Given the description of an element on the screen output the (x, y) to click on. 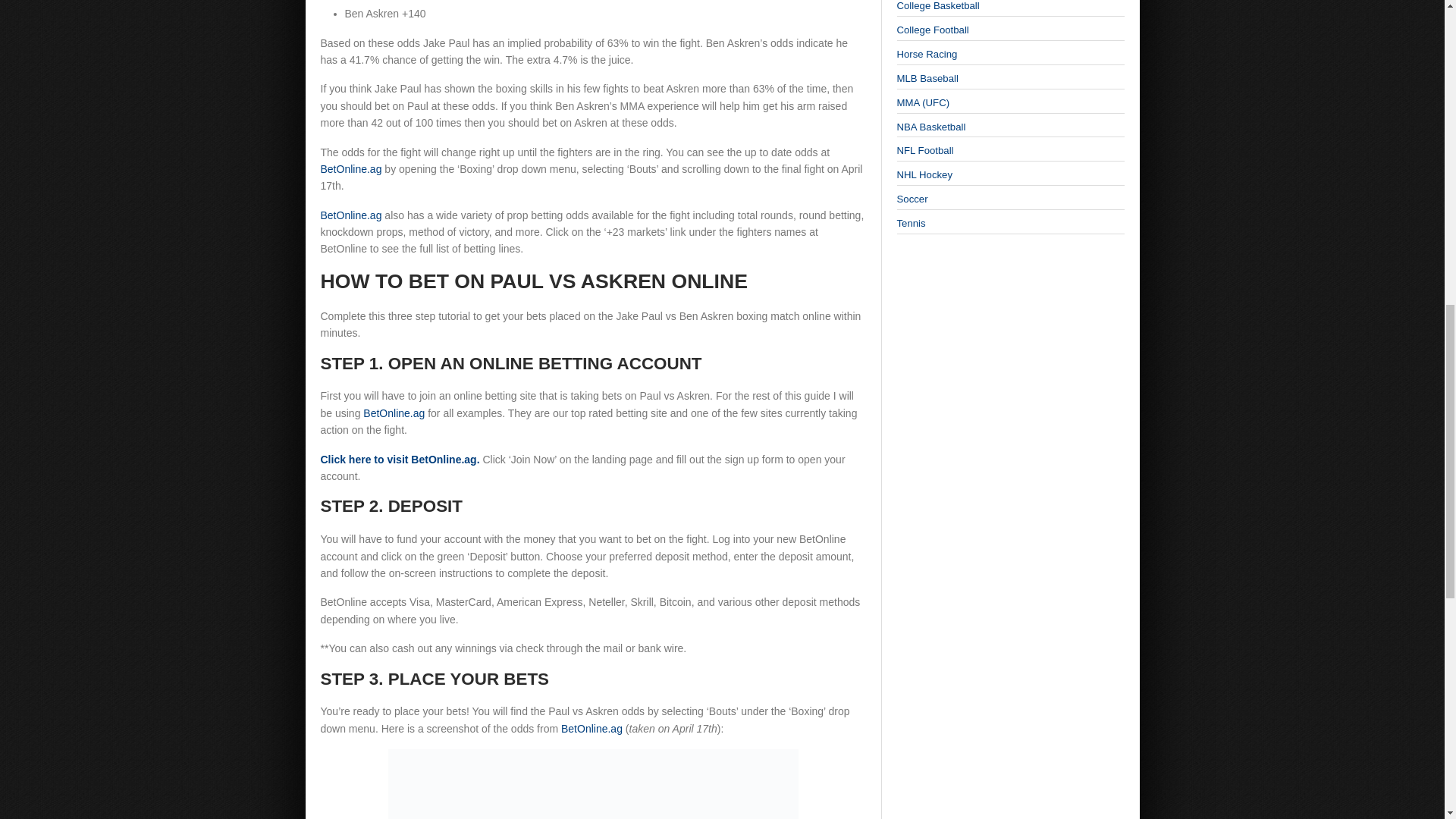
Horse Race Betting (926, 53)
BetOnline.ag (350, 215)
BetOnline.ag (393, 413)
NHL Betting (924, 174)
MMA Betting (922, 102)
NCAA Basketball Betting (937, 5)
BetOnline.ag (350, 168)
NBA Betting (930, 126)
Click here to visit BetOnline.ag. (399, 459)
NCAA Football Betting (932, 30)
